Given the description of an element on the screen output the (x, y) to click on. 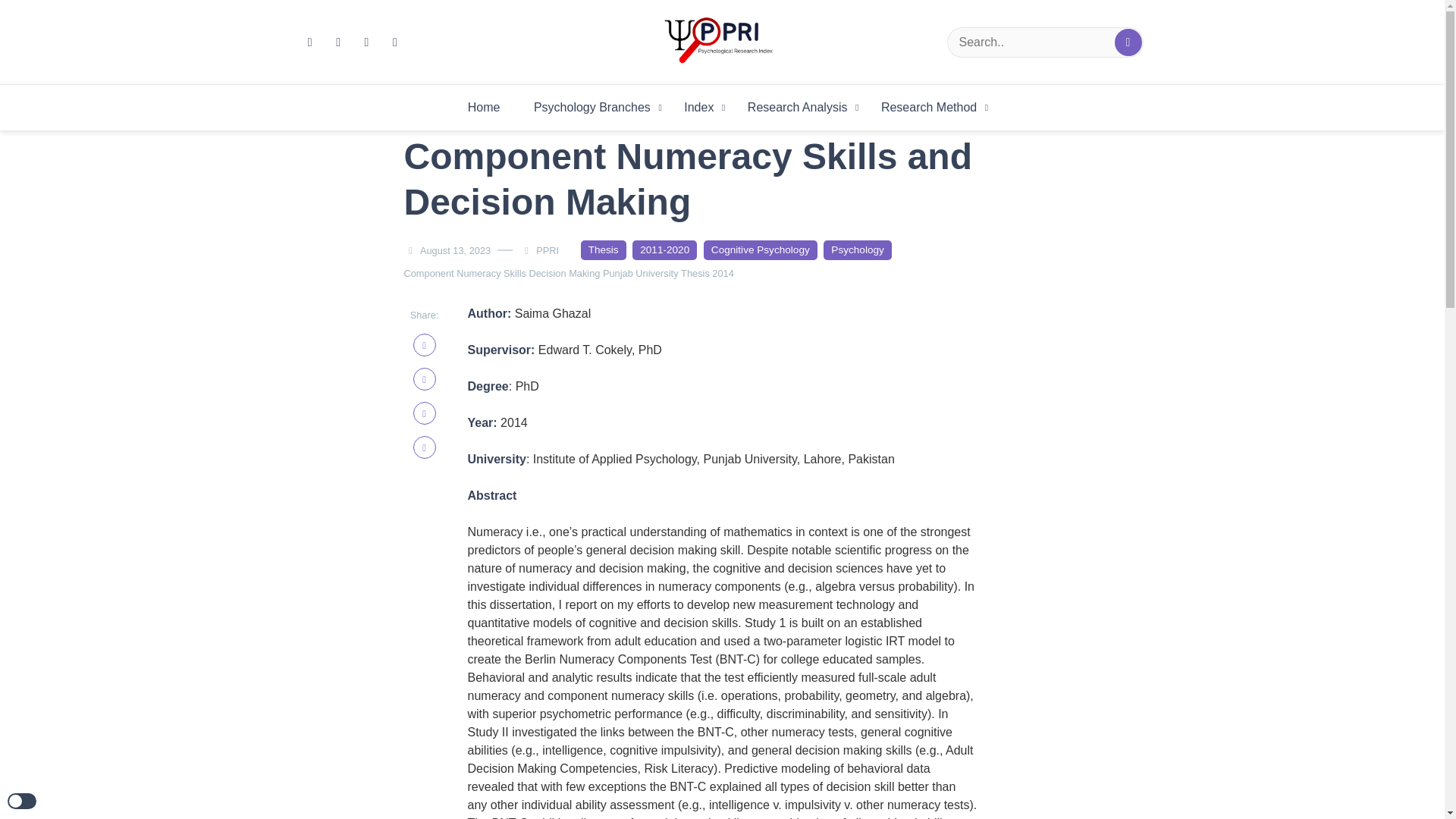
Home (483, 107)
Psychology Branches (591, 107)
Pakistan Psychological Research Index (985, 92)
